Given the description of an element on the screen output the (x, y) to click on. 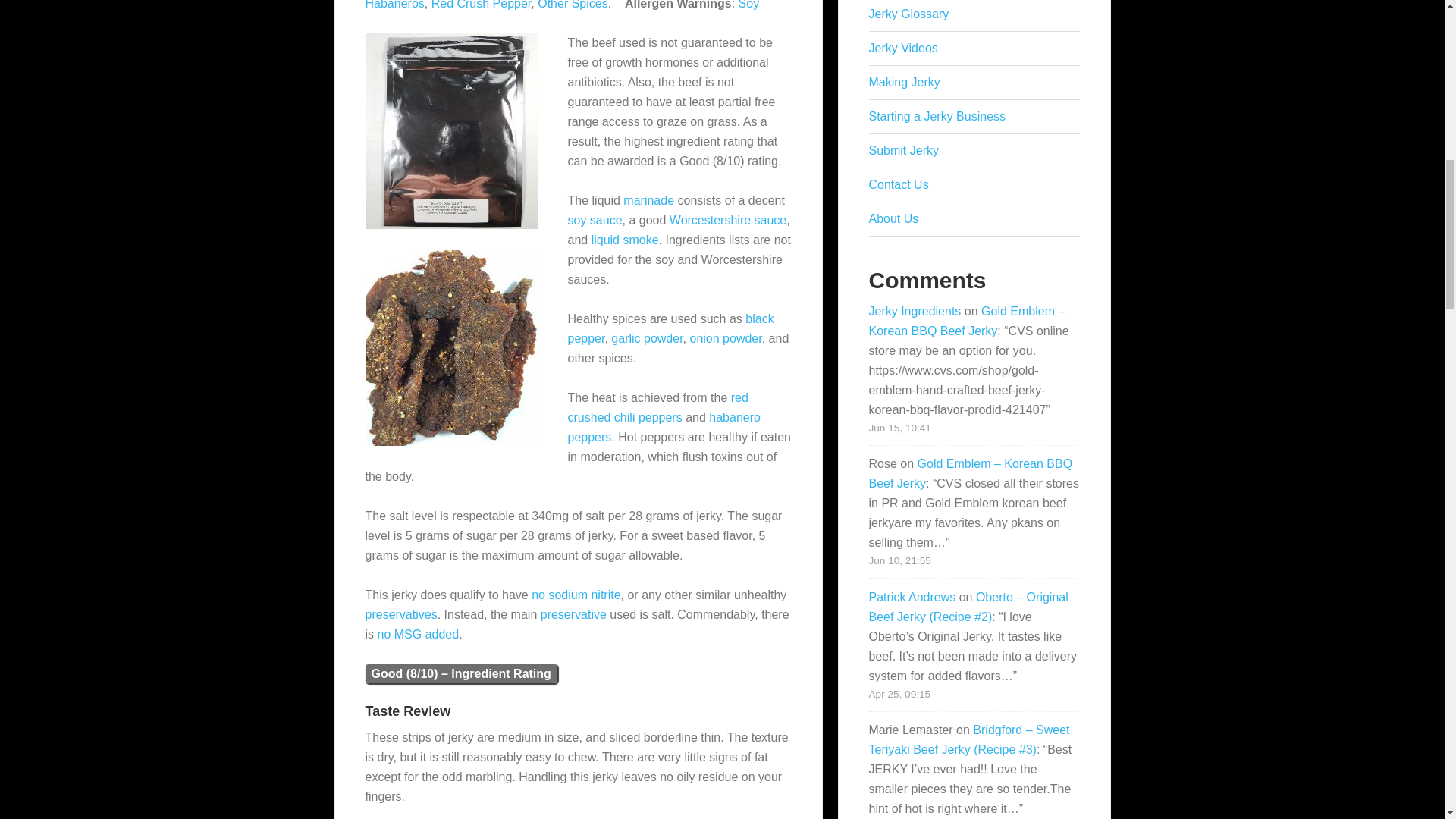
4 Seasons Jerky - Sweet Mesquite Habanero Beef Jerky (451, 347)
4 Seasons Jerky - Sweet Mesquite Habanero Beef Jerky (451, 131)
